Given the description of an element on the screen output the (x, y) to click on. 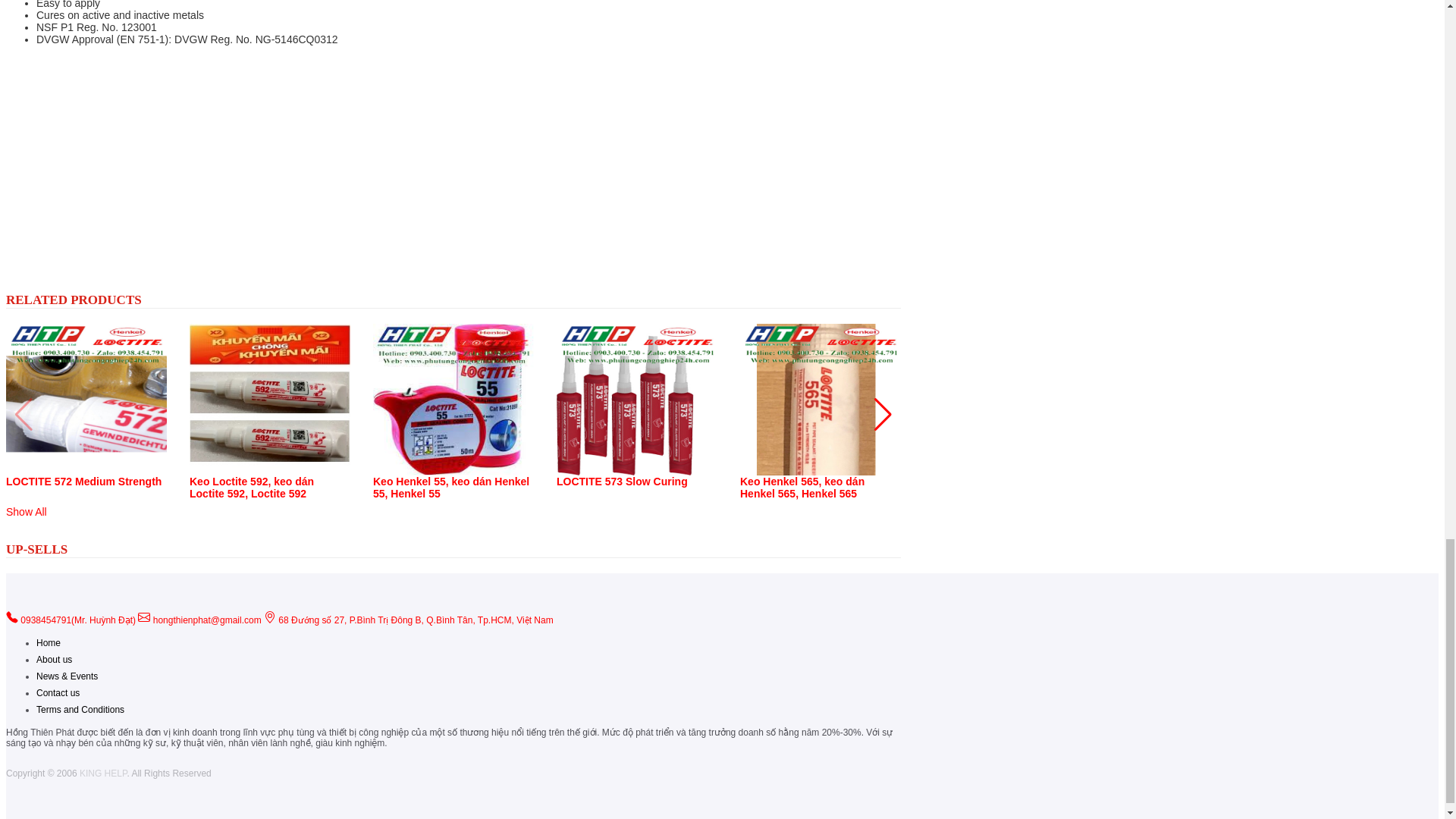
LOCTITE 572 Medium Strength (83, 481)
RELATED PRODUCTS (73, 299)
LOCTITE 573 Slow Curing (621, 481)
